Given the description of an element on the screen output the (x, y) to click on. 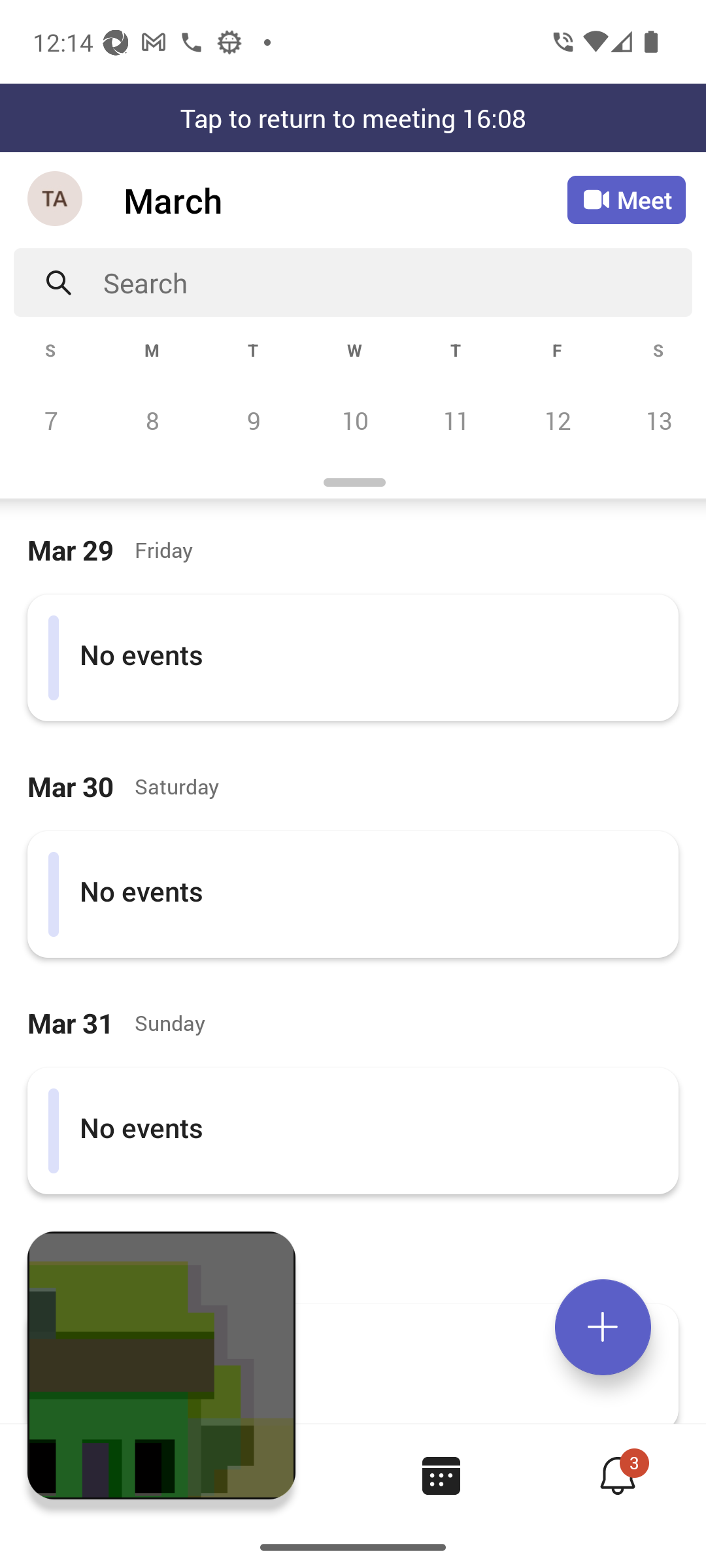
Tap to return to meeting 16:08 (353, 117)
Navigation (56, 199)
Meet Meet now or join with an ID (626, 199)
March March Calendar Agenda View (345, 199)
Search (397, 281)
Sunday, April 7 7 (50, 420)
Monday, April 8 8 (151, 420)
Tuesday, April 9 9 (253, 420)
Wednesday, April 10 10 (354, 420)
Thursday, April 11 11 (455, 420)
Friday, April 12 12 (556, 420)
Saturday, April 13 13 (656, 420)
Expand meetings menu (602, 1327)
Calendar tab, 3 of 4 (441, 1475)
Activity tab,4 of 4, not selected, 3 new 3 (617, 1475)
